Given the description of an element on the screen output the (x, y) to click on. 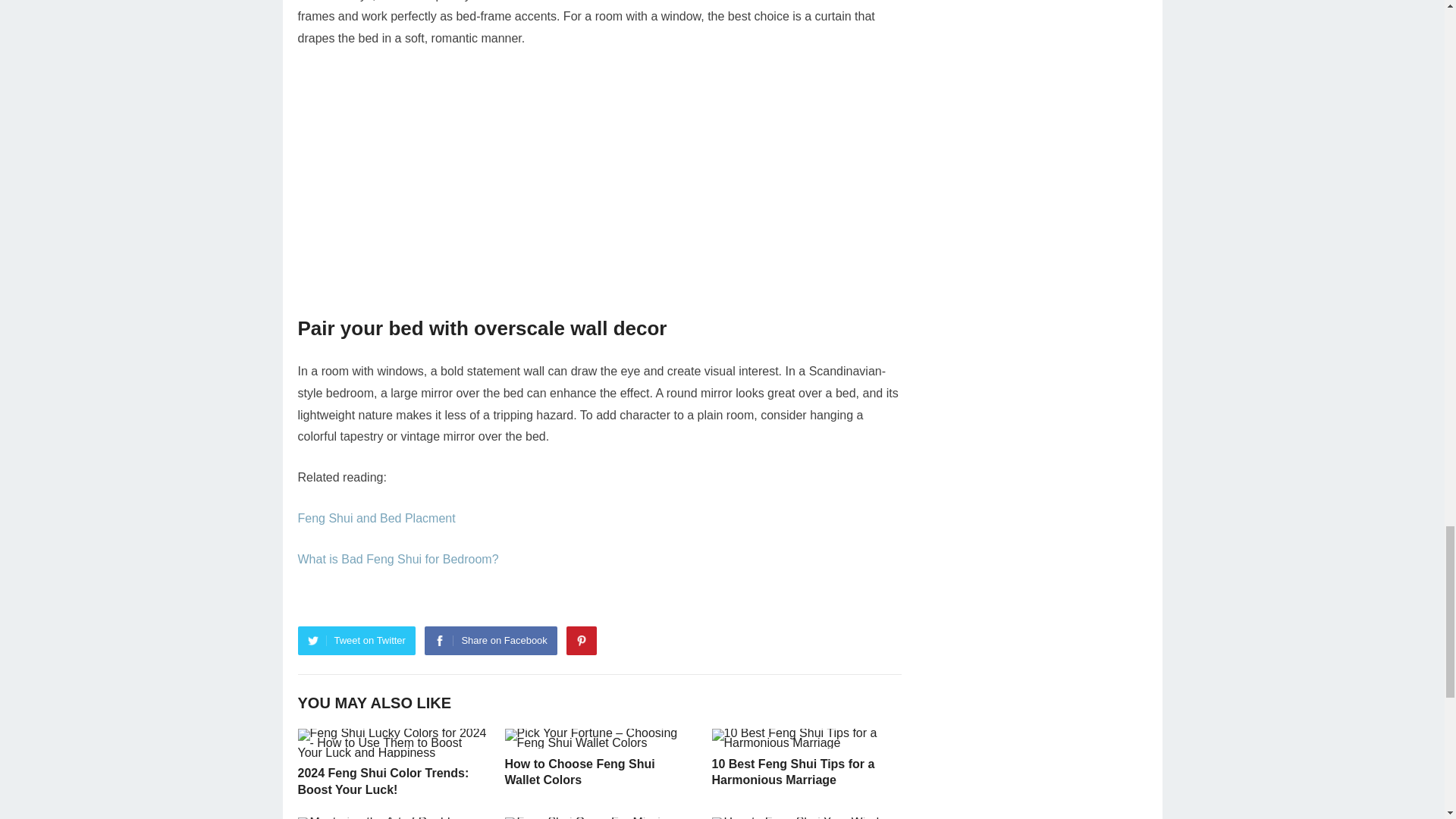
2024 Feng Shui Color Trends: Boost Your Luck! 8 (391, 742)
10 Best Feng Shui Tips for a Harmonious Marriage 12 (805, 738)
Where to Put Bed in Room with Windows? 5 (598, 182)
How to Choose Feng Shui Wallet Colors 10 (599, 738)
